Given the description of an element on the screen output the (x, y) to click on. 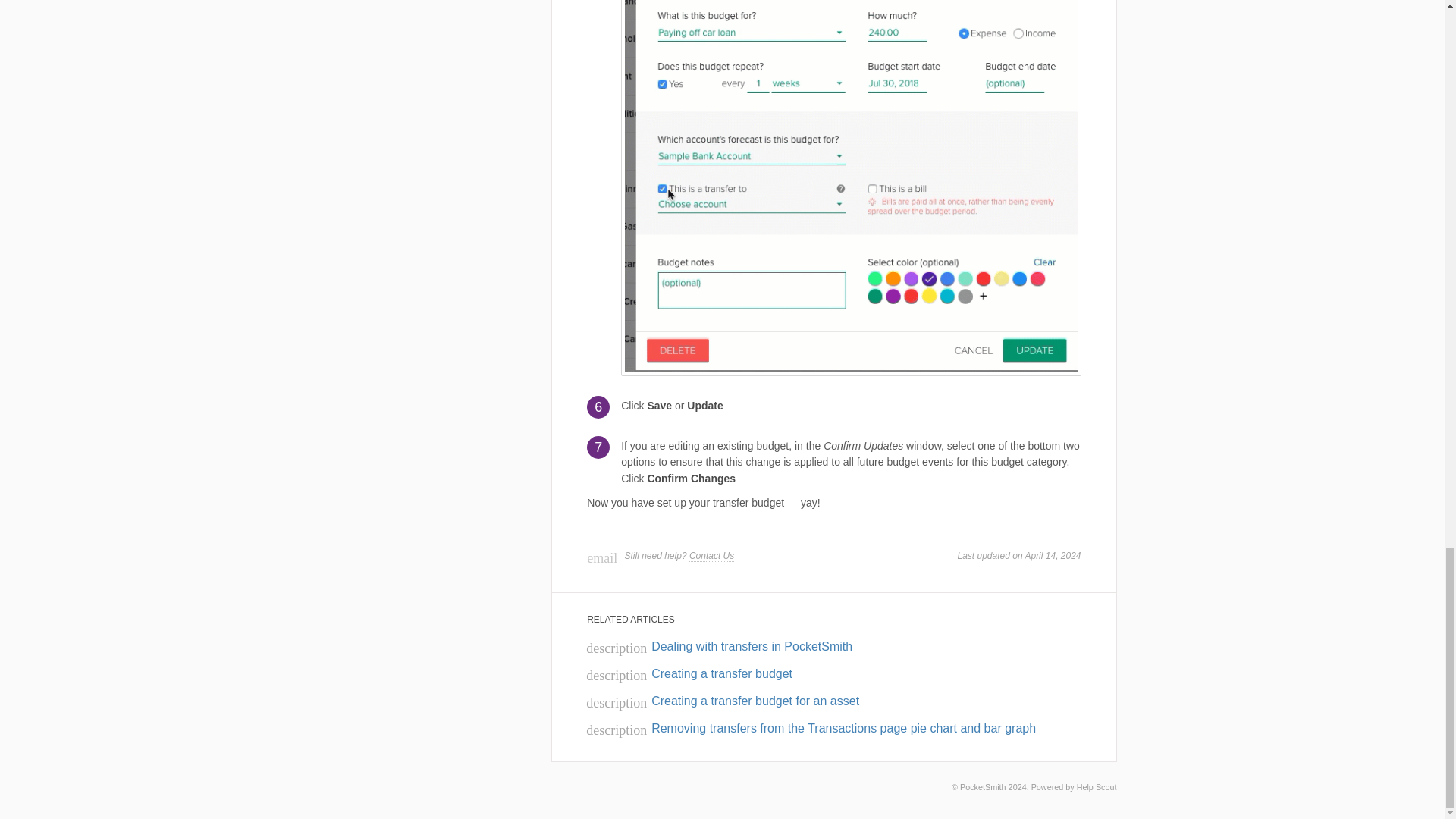
Dealing with transfers in PocketSmith (718, 645)
Creating a transfer budget (689, 673)
Creating a transfer budget for an asset (722, 700)
Contact Us (710, 555)
